Given the description of an element on the screen output the (x, y) to click on. 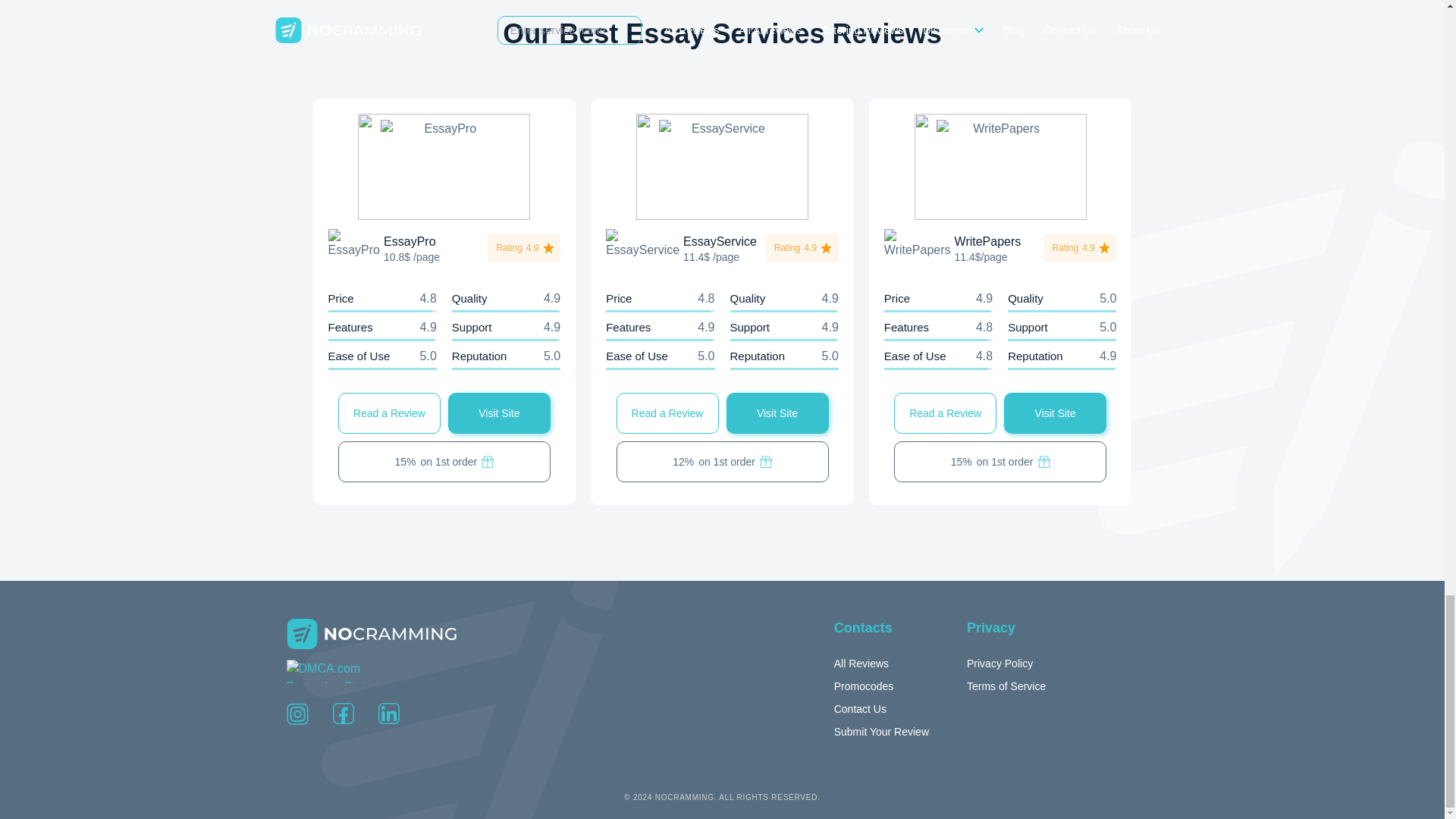
Visit Site (777, 413)
Read a Review (389, 413)
Read a Review (666, 413)
Visit Site (1055, 413)
Read a Review (944, 413)
Promocodes (867, 685)
DMCA.com Protection Status (343, 670)
Visit Site (499, 413)
All Reviews (865, 662)
